Given the description of an element on the screen output the (x, y) to click on. 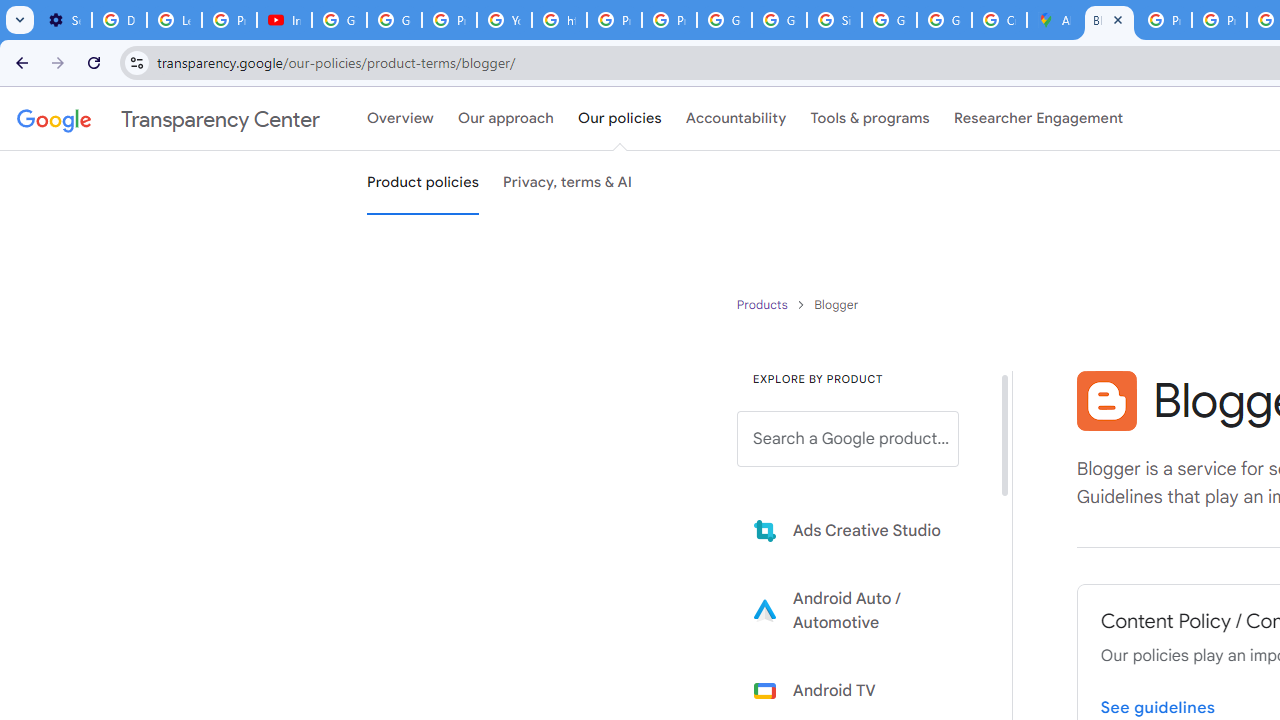
Privacy, terms & AI (568, 183)
Learn more about Ads Creative Studio (862, 530)
